Given the description of an element on the screen output the (x, y) to click on. 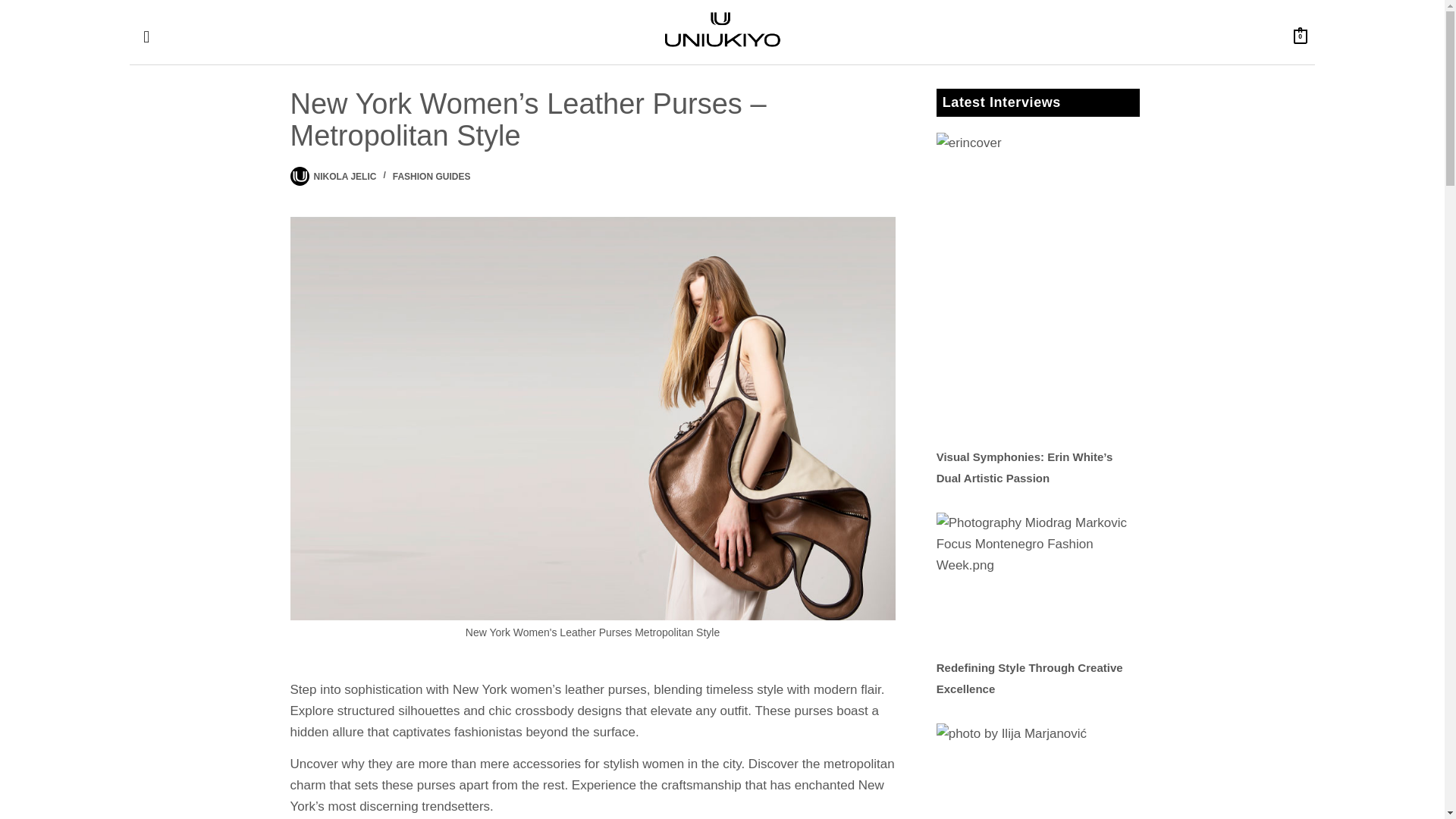
FASHION GUIDES (431, 176)
Posts by Nikola Jelic (345, 176)
Skip to content (15, 7)
0 (1300, 35)
View your shopping cart (1300, 35)
NIKOLA JELIC (345, 176)
